Given the description of an element on the screen output the (x, y) to click on. 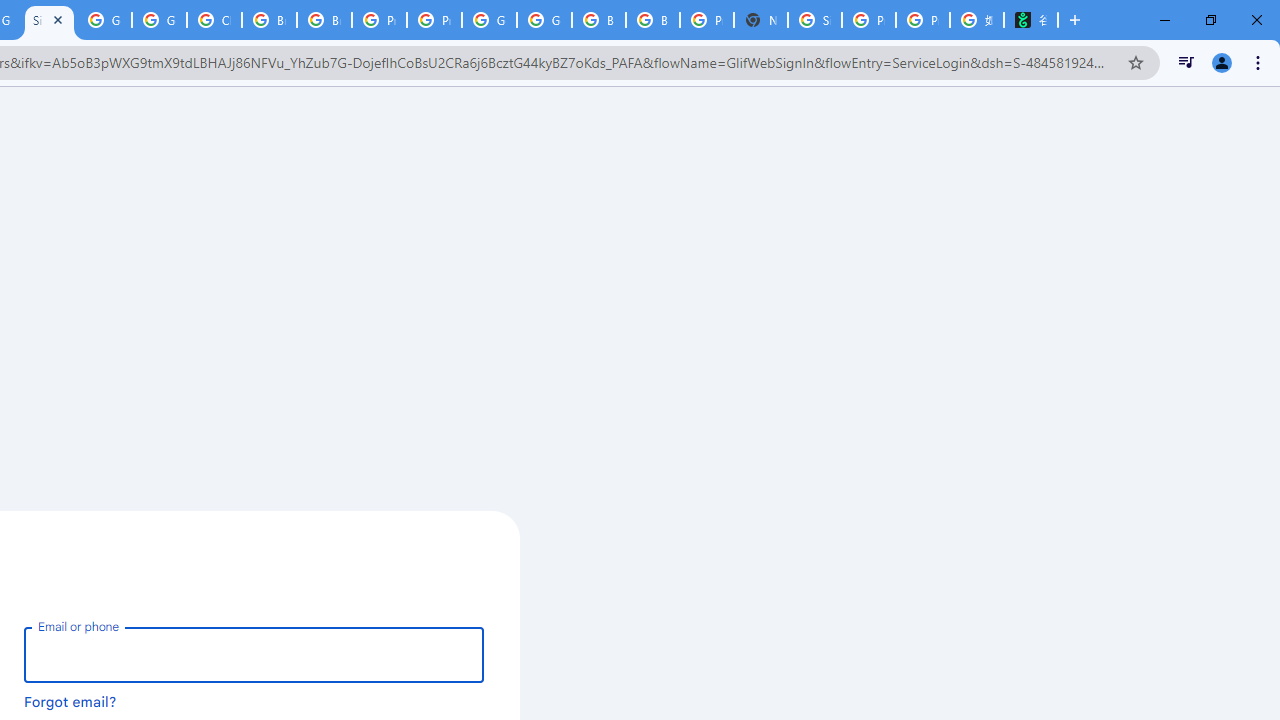
Email or phone (253, 654)
Forgot email? (70, 701)
Sign in - Google Accounts (48, 20)
Google Cloud Platform (489, 20)
Sign in - Google Accounts (815, 20)
